Given the description of an element on the screen output the (x, y) to click on. 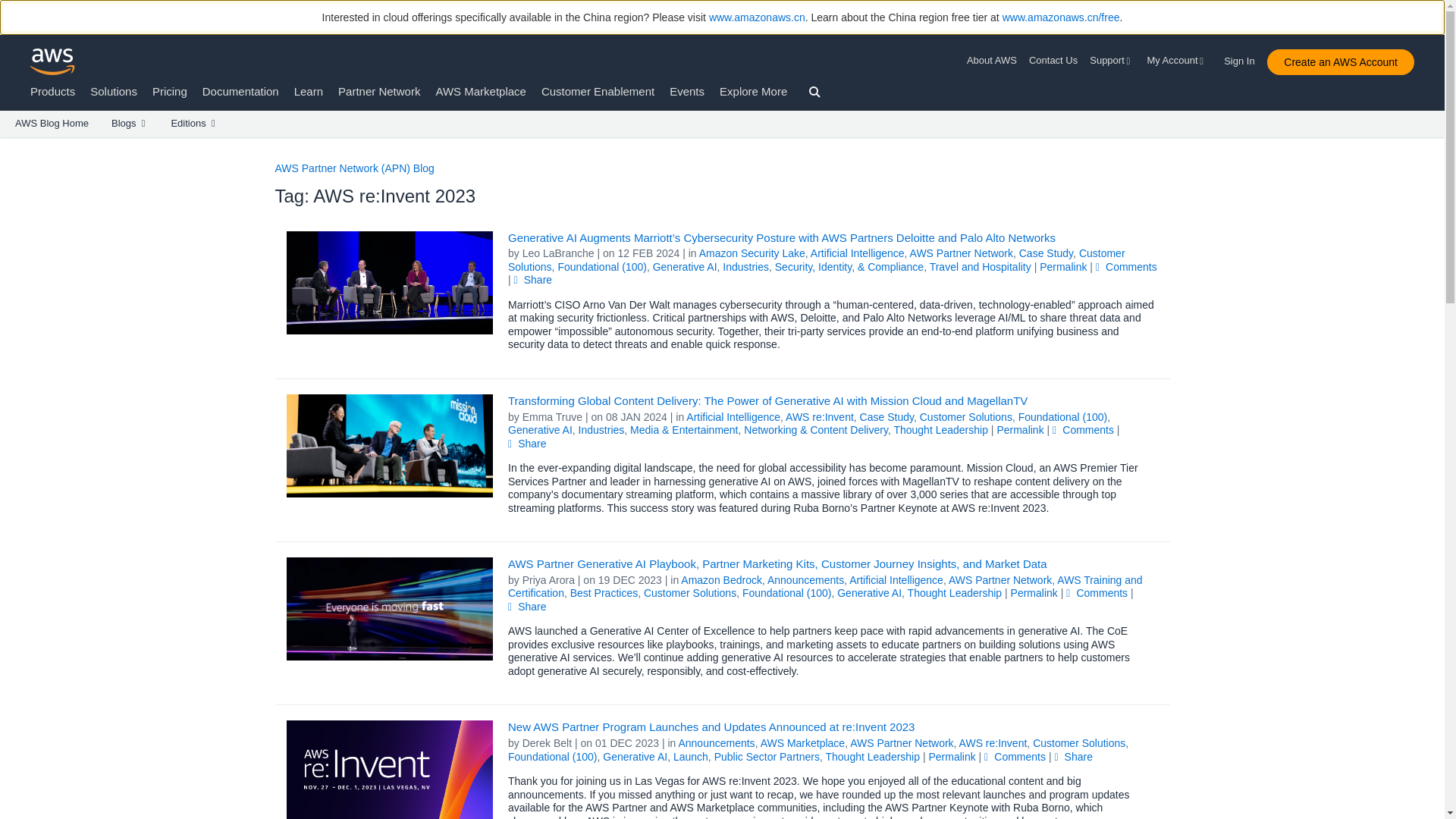
View all posts in Travel and Hospitality (980, 266)
Partner Network (378, 91)
About AWS (994, 60)
View all posts in Artificial Intelligence (732, 417)
View all posts in Customer Solutions (965, 417)
My Account  (1177, 60)
Create an AWS Account (1339, 62)
View all posts in Generative AI (684, 266)
View all posts in Generative AI (540, 429)
Events (686, 91)
View all posts in Industries (745, 266)
Sign In (1243, 58)
View all posts in Case Study (1046, 253)
View all posts in Amazon Security Lake (751, 253)
www.amazonaws.cn (757, 17)
